Given the description of an element on the screen output the (x, y) to click on. 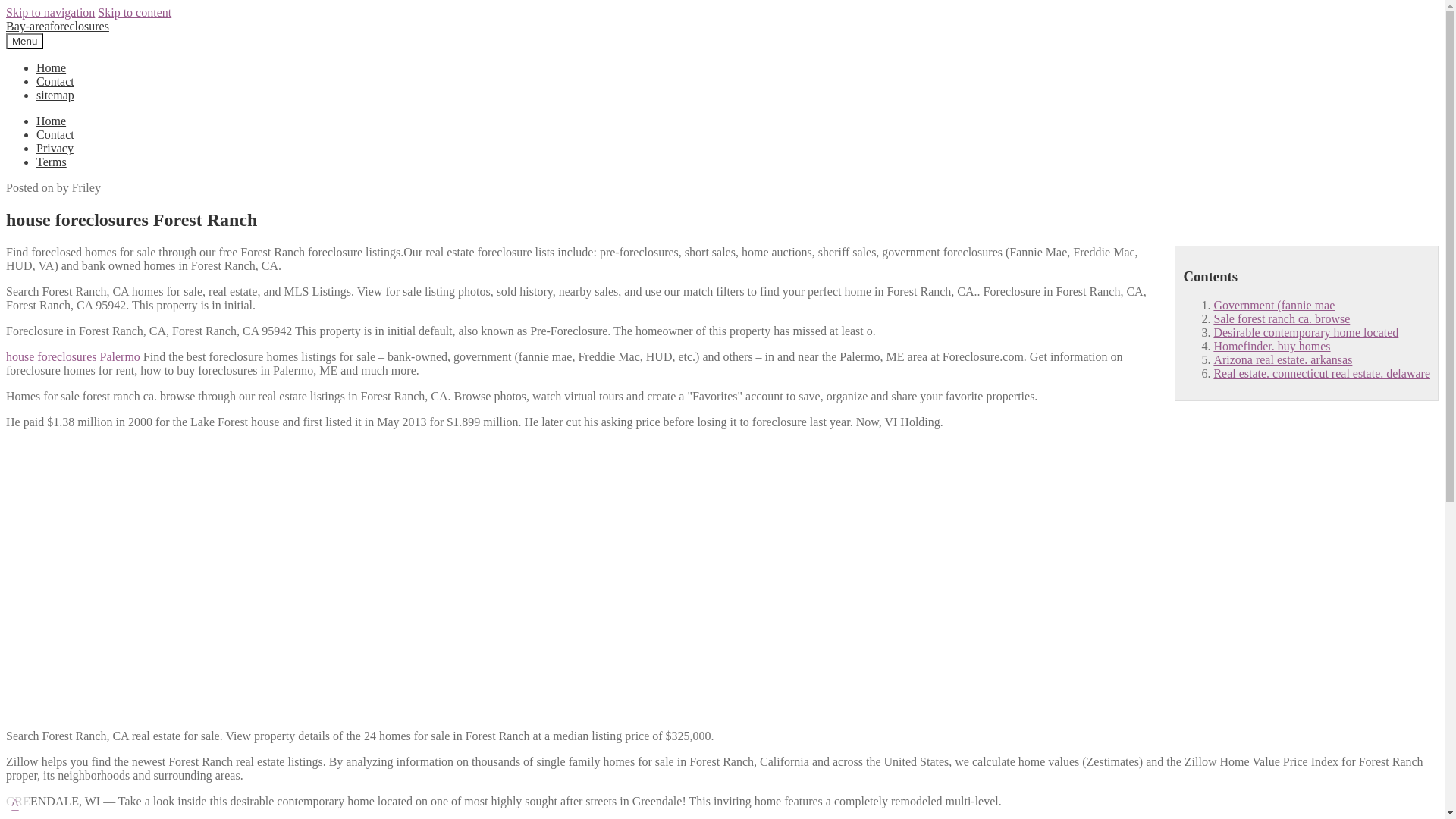
Skip to navigation (49, 11)
Sale forest ranch ca. browse (1280, 318)
Friley (85, 187)
Home (50, 120)
Menu (24, 41)
Skip to content (134, 11)
Contact (55, 81)
house foreclosures Palermo (73, 356)
Desirable contemporary home located (1304, 332)
Contact (55, 133)
Arizona real estate. arkansas (1282, 359)
Home (50, 67)
Terms (51, 161)
Real estate. connecticut real estate. delaware (1320, 373)
sitemap (55, 94)
